Given the description of an element on the screen output the (x, y) to click on. 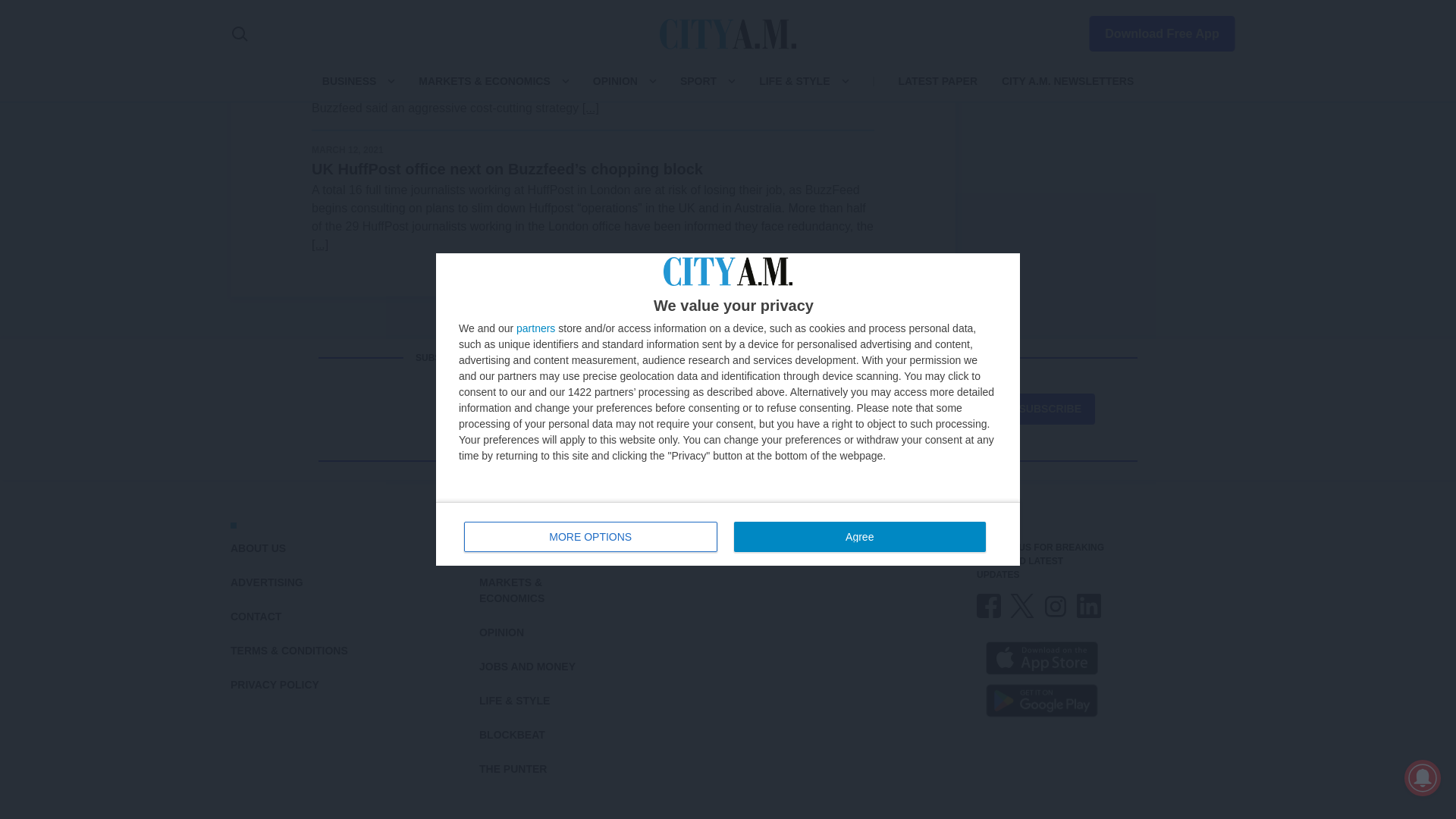
INSTAGRAM (1055, 605)
FACEBOOK (988, 605)
LINKEDIN (1088, 605)
X (1021, 605)
